Given the description of an element on the screen output the (x, y) to click on. 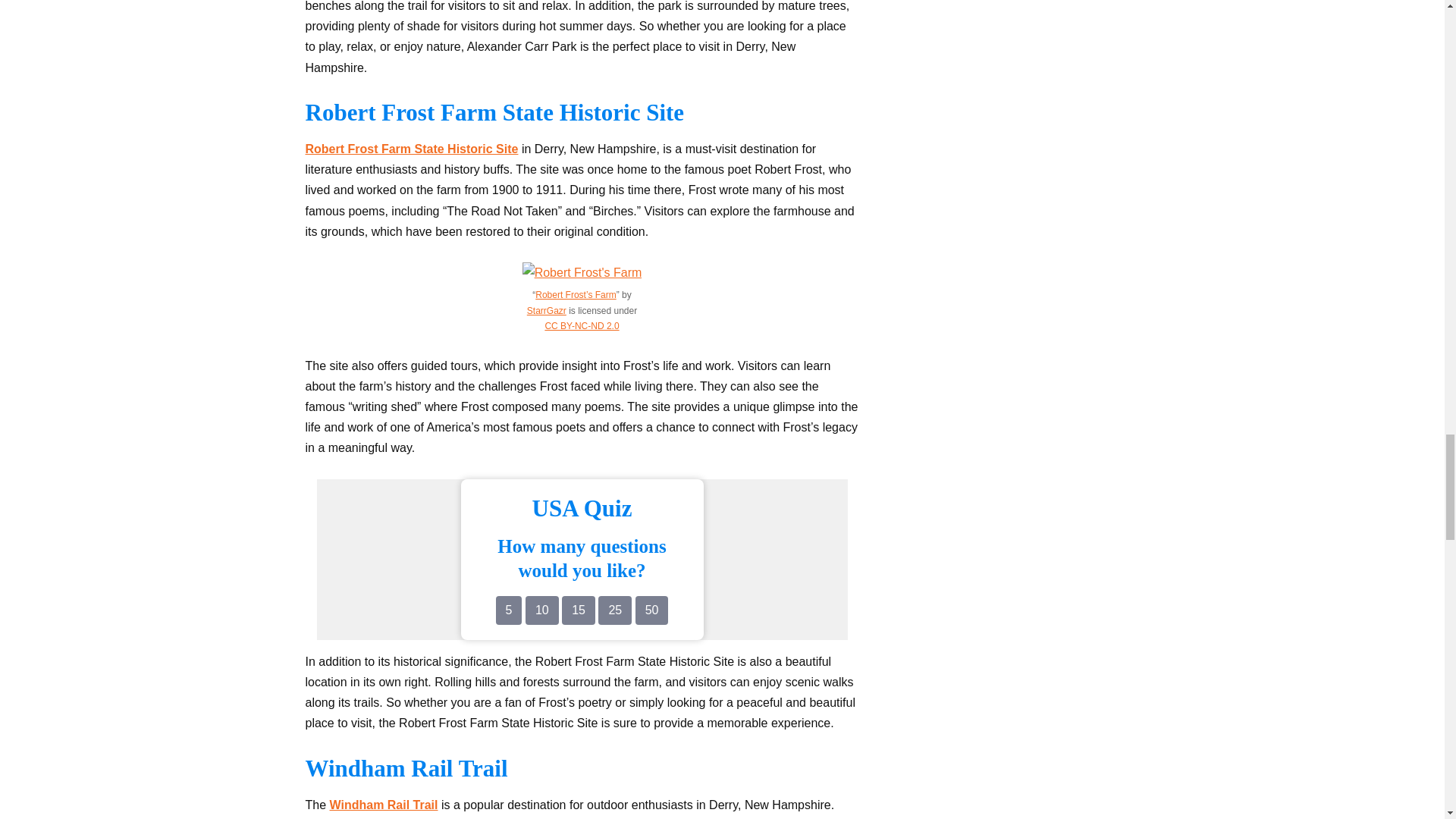
Windham Rail Trail (384, 804)
50 (651, 610)
CC BY-NC-ND 2.0 (581, 326)
10 (542, 610)
15 (578, 610)
StarrGazr (546, 310)
Things to do in Derry, New Hampshire 4 (582, 272)
Robert Frost Farm State Historic Site (411, 148)
25 (614, 610)
5 (509, 610)
